Given the description of an element on the screen output the (x, y) to click on. 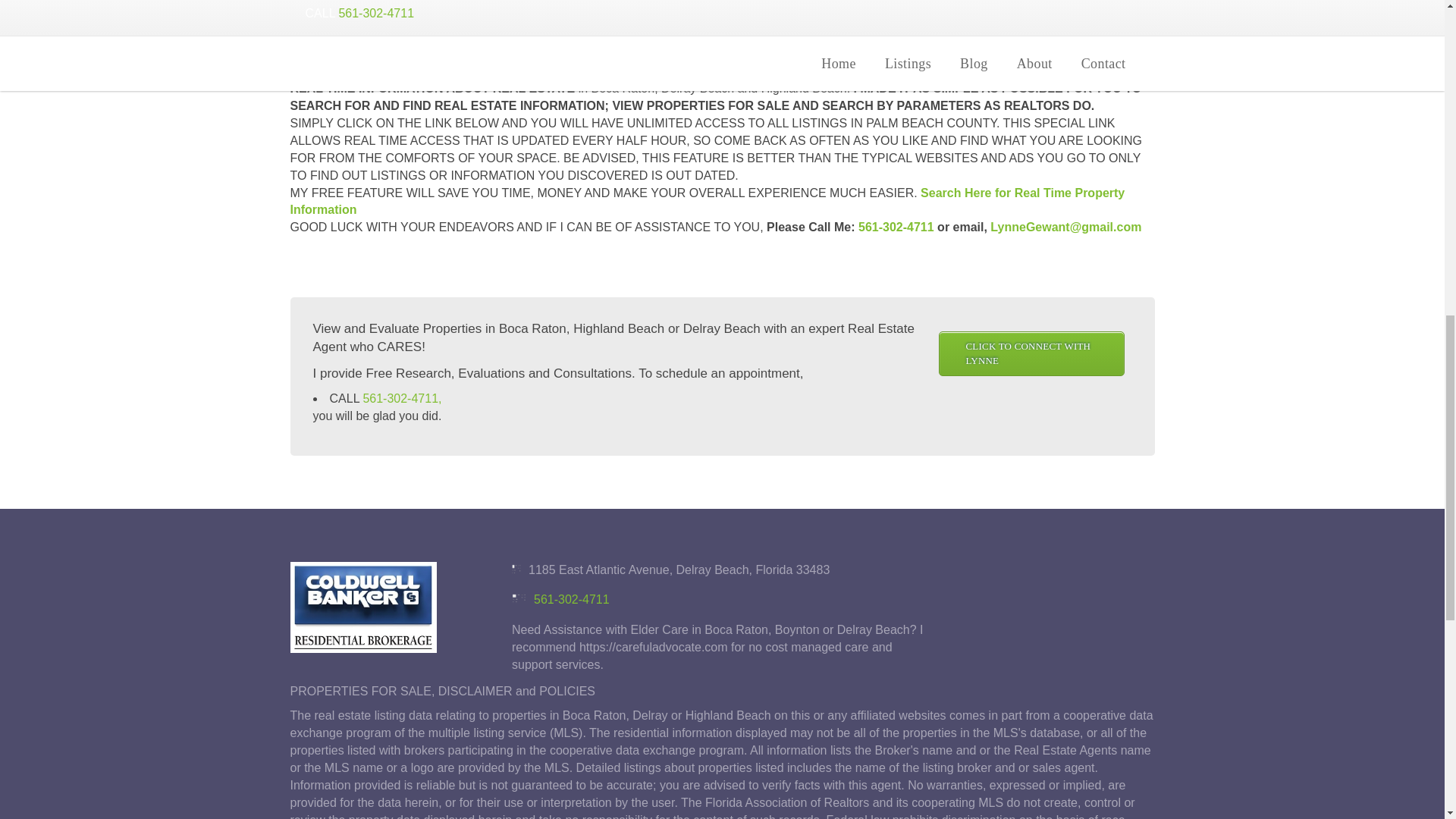
CLICK TO CONNECT WITH LYNNE (1031, 353)
561-302-4711, (401, 398)
Search Here for Real Time Property Information (706, 201)
561-302-4711 (896, 226)
561-302-4711 (572, 599)
